Given the description of an element on the screen output the (x, y) to click on. 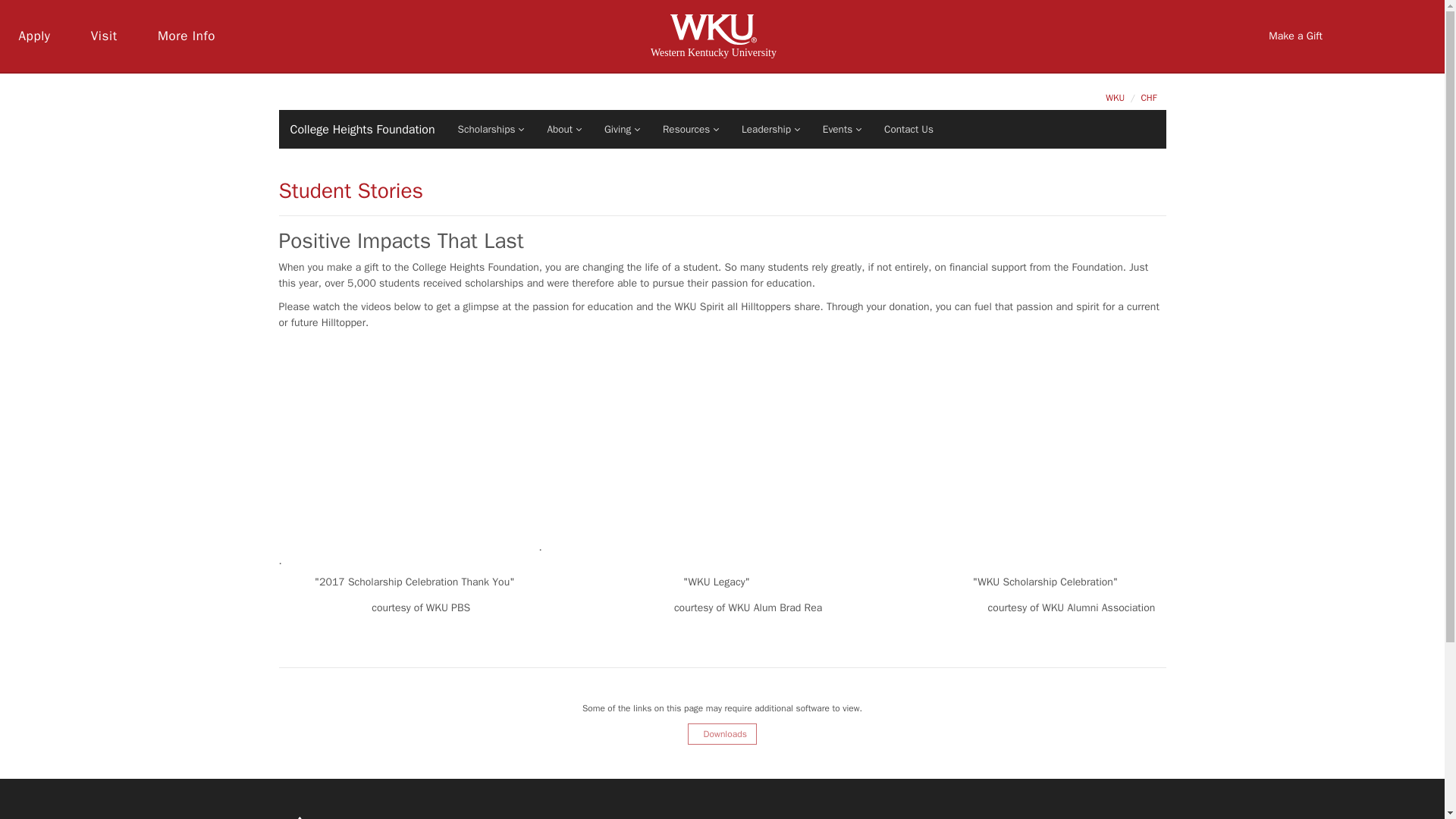
Apply (34, 35)
Western Kentucky University (713, 36)
Visit (102, 35)
Request Information (185, 35)
More Info (185, 35)
WKU Homepage (1114, 96)
College Heights Foundation - Home (357, 129)
Funny Monkeys (1148, 96)
Visit Campus (102, 35)
Scholarships (490, 128)
